Given the description of an element on the screen output the (x, y) to click on. 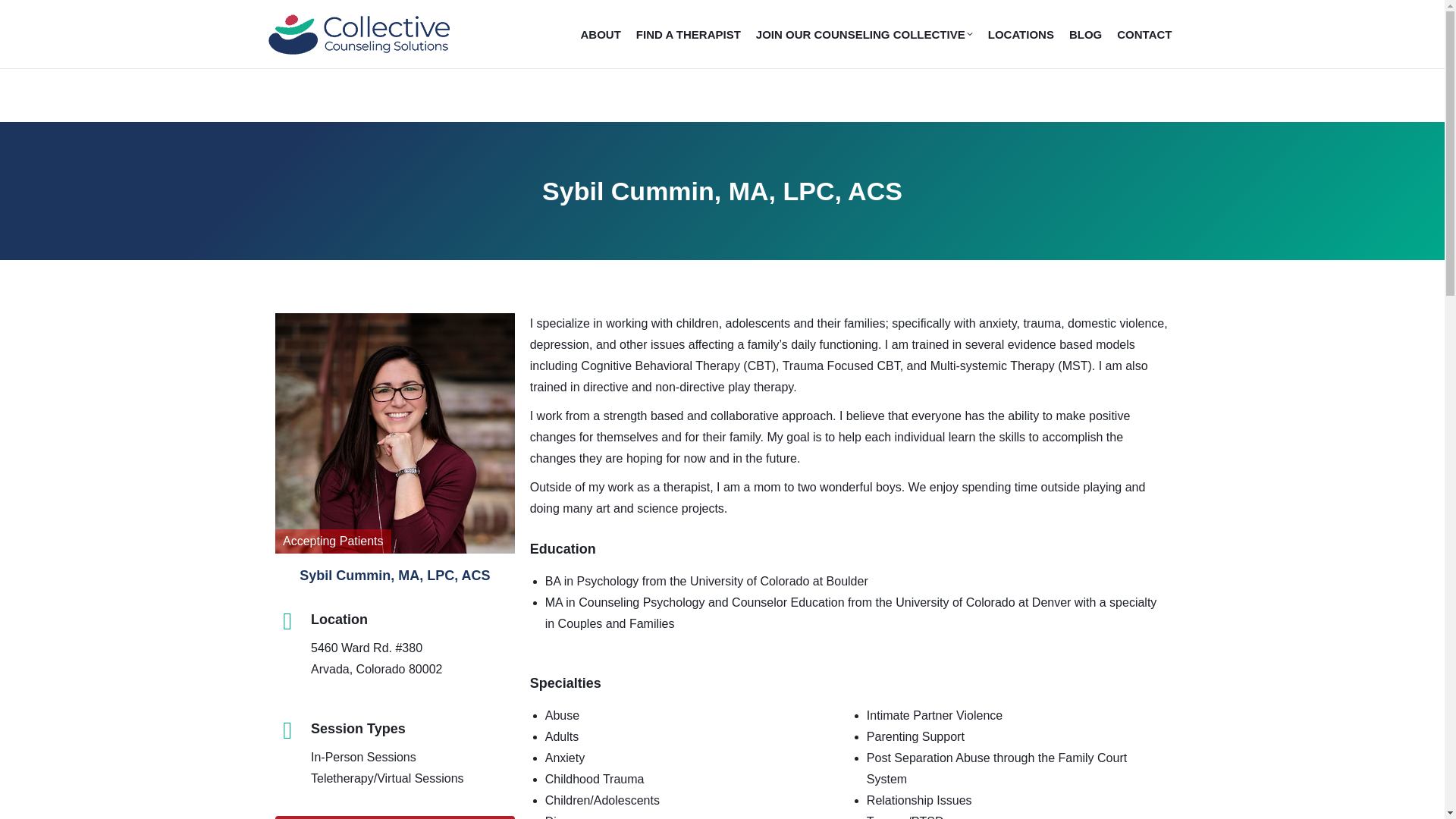
ABOUT (600, 33)
APPOINTMENT REQUEST (395, 817)
FIND A THERAPIST (687, 33)
CONTACT (1144, 33)
JOIN OUR COUNSELING COLLECTIVE (864, 33)
LOCATIONS (1020, 33)
BLOG (1085, 33)
Session Types (358, 728)
